Given the description of an element on the screen output the (x, y) to click on. 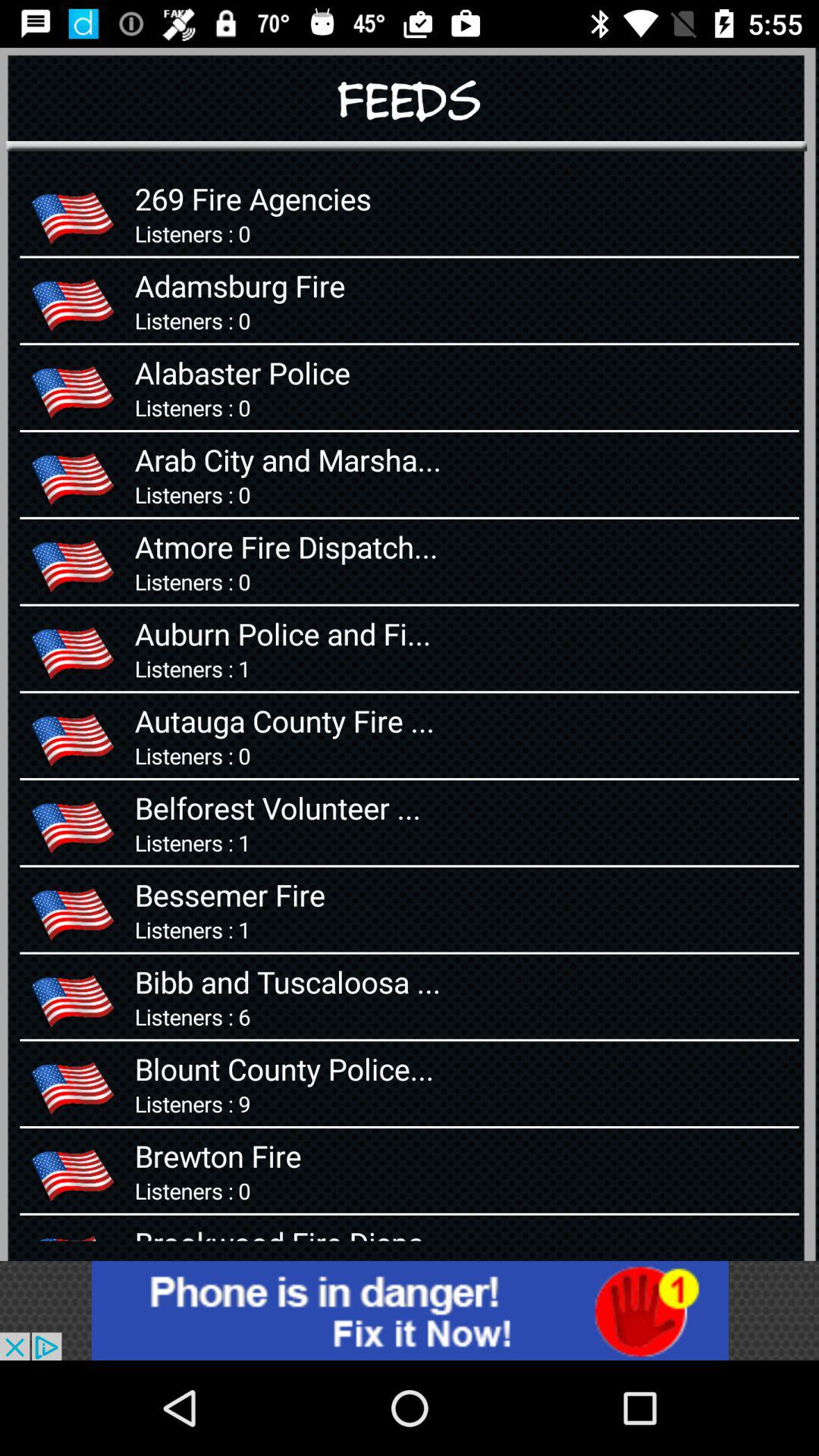
advertisements displaying (409, 1310)
